Given the description of an element on the screen output the (x, y) to click on. 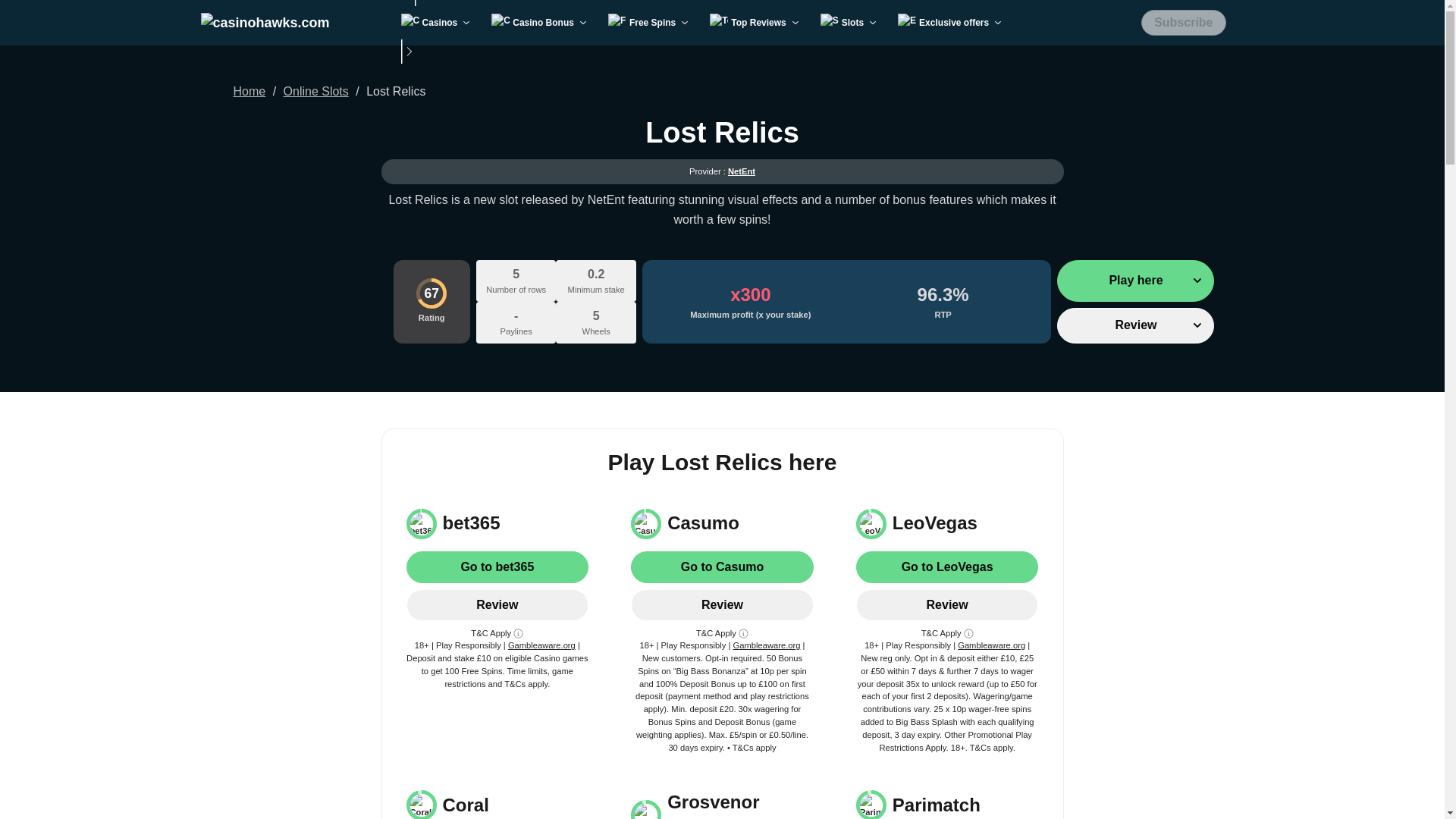
Slots (850, 22)
Casinos (437, 22)
Top Reviews (756, 22)
Casino Bonus (540, 22)
Free Spins (649, 22)
